Given the description of an element on the screen output the (x, y) to click on. 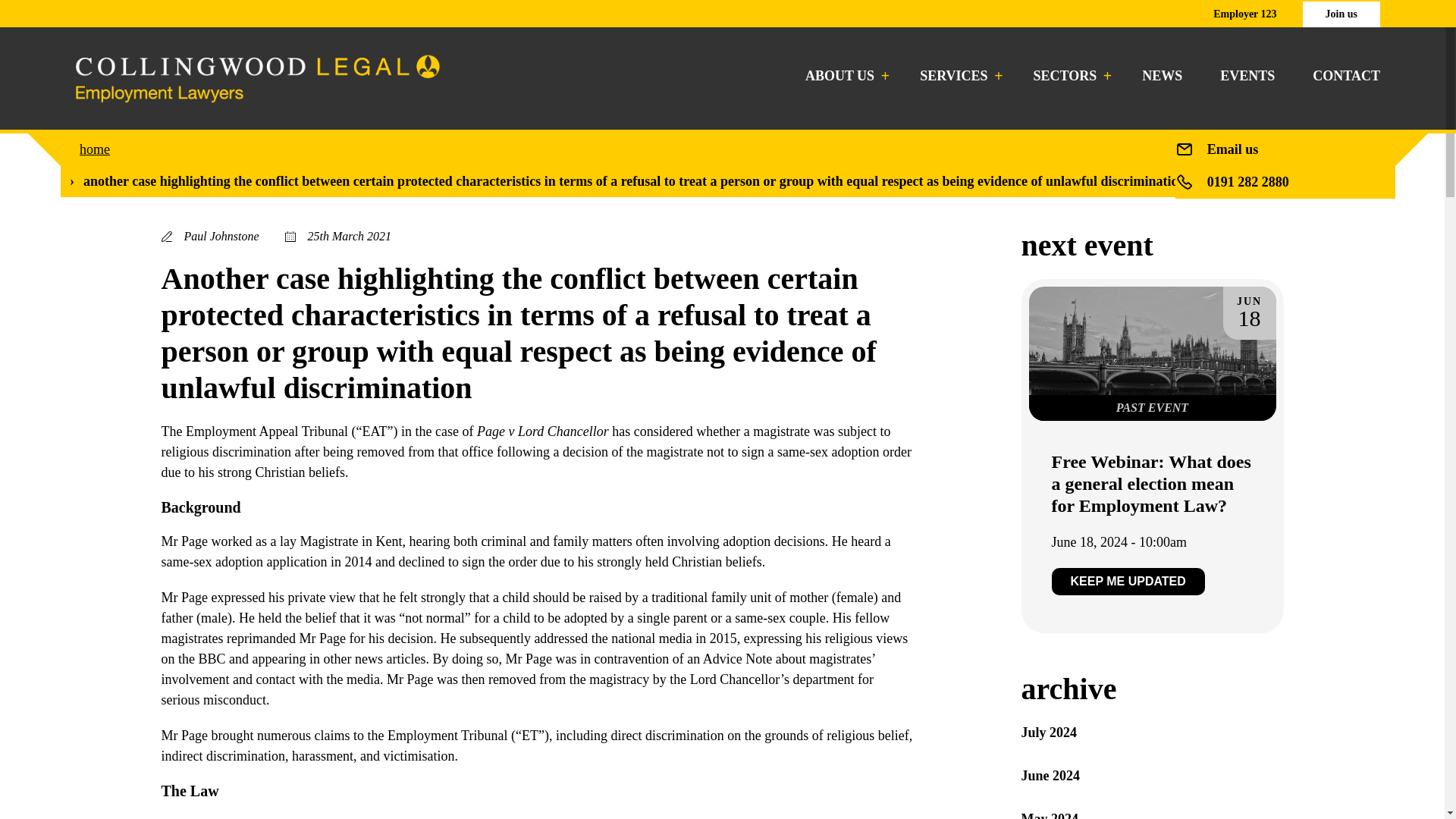
SERVICES (957, 75)
EVENTS (1247, 75)
home (95, 149)
Join us (1340, 13)
ABOUT US (843, 75)
SECTORS (1069, 75)
NEWS (1161, 75)
0191 282 2880 (1247, 181)
Employer 123 (1244, 13)
CONTACT (1346, 75)
Email us (1233, 149)
